Given the description of an element on the screen output the (x, y) to click on. 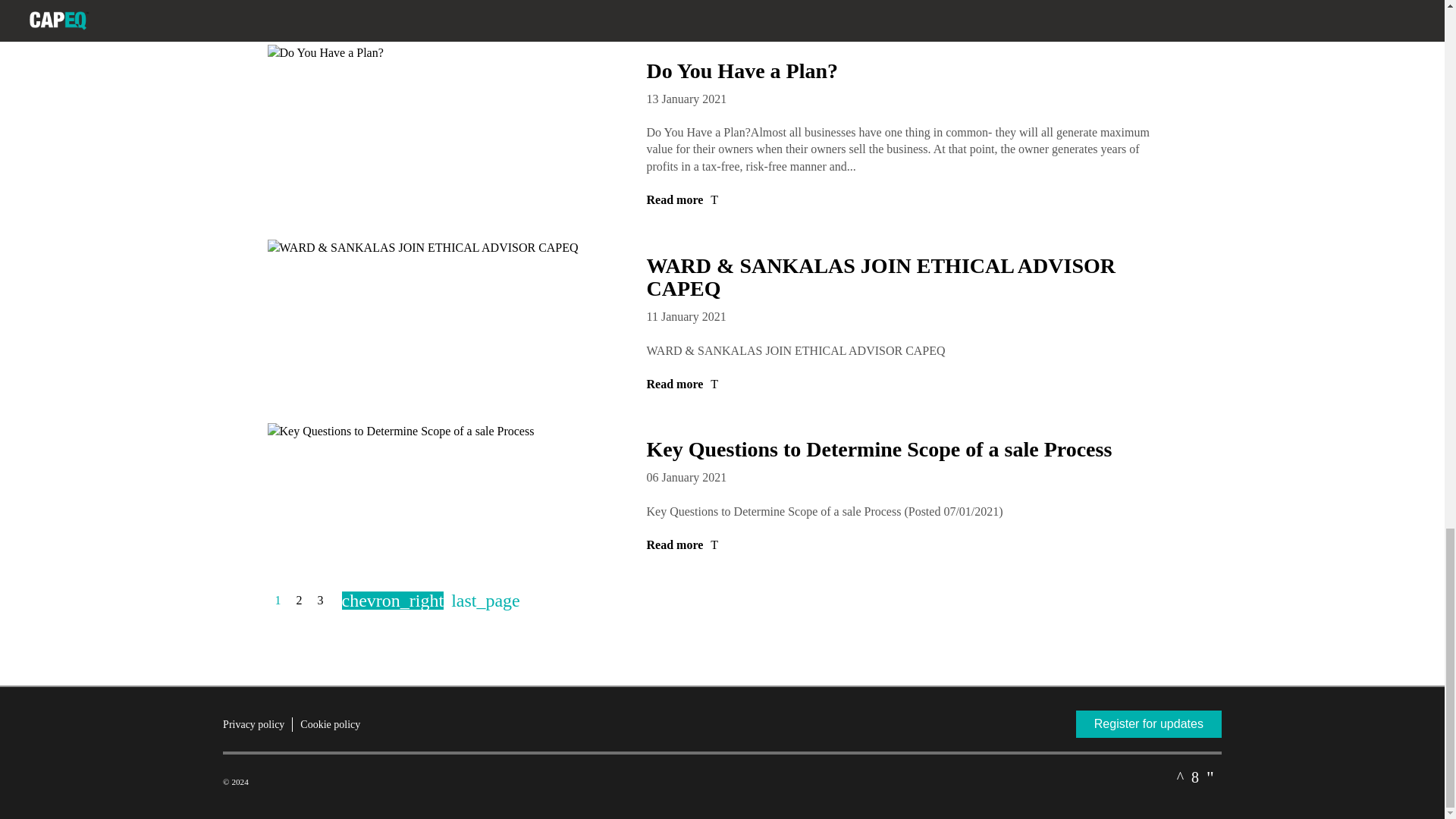
Read more (903, 199)
Key Questions to Determine Scope of a sale Process (879, 449)
Read more (903, 384)
Do You Have a Plan? (742, 70)
Read more (903, 6)
Read more (903, 545)
